Given the description of an element on the screen output the (x, y) to click on. 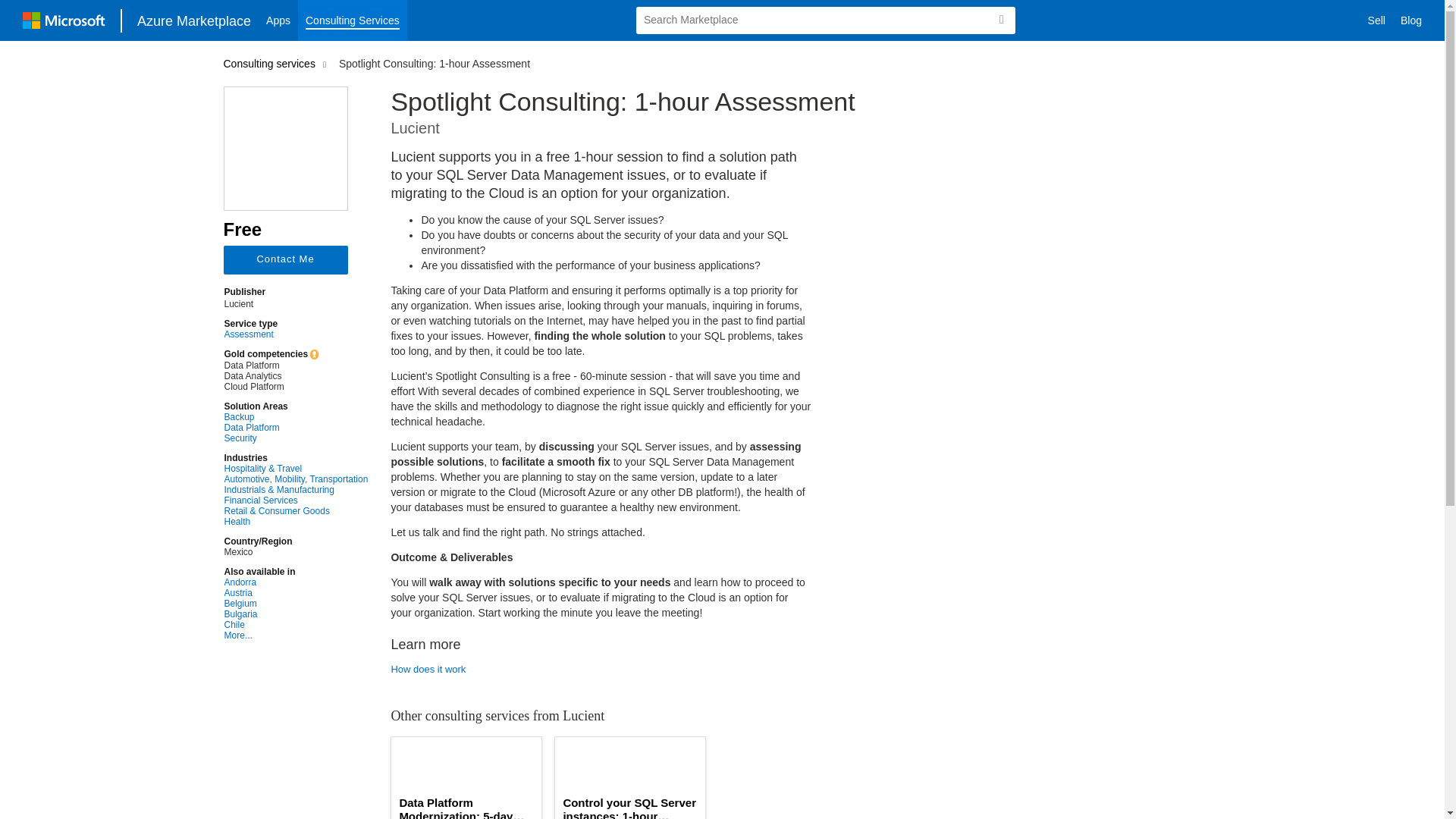
Austria (296, 593)
Financial Services (296, 500)
Apps (278, 20)
Azure Marketplace (194, 20)
Assessment (296, 334)
Belgium (296, 603)
Automotive, Mobility, Transportation (296, 479)
Blog (1411, 20)
Security (296, 438)
Backup (296, 416)
